Given the description of an element on the screen output the (x, y) to click on. 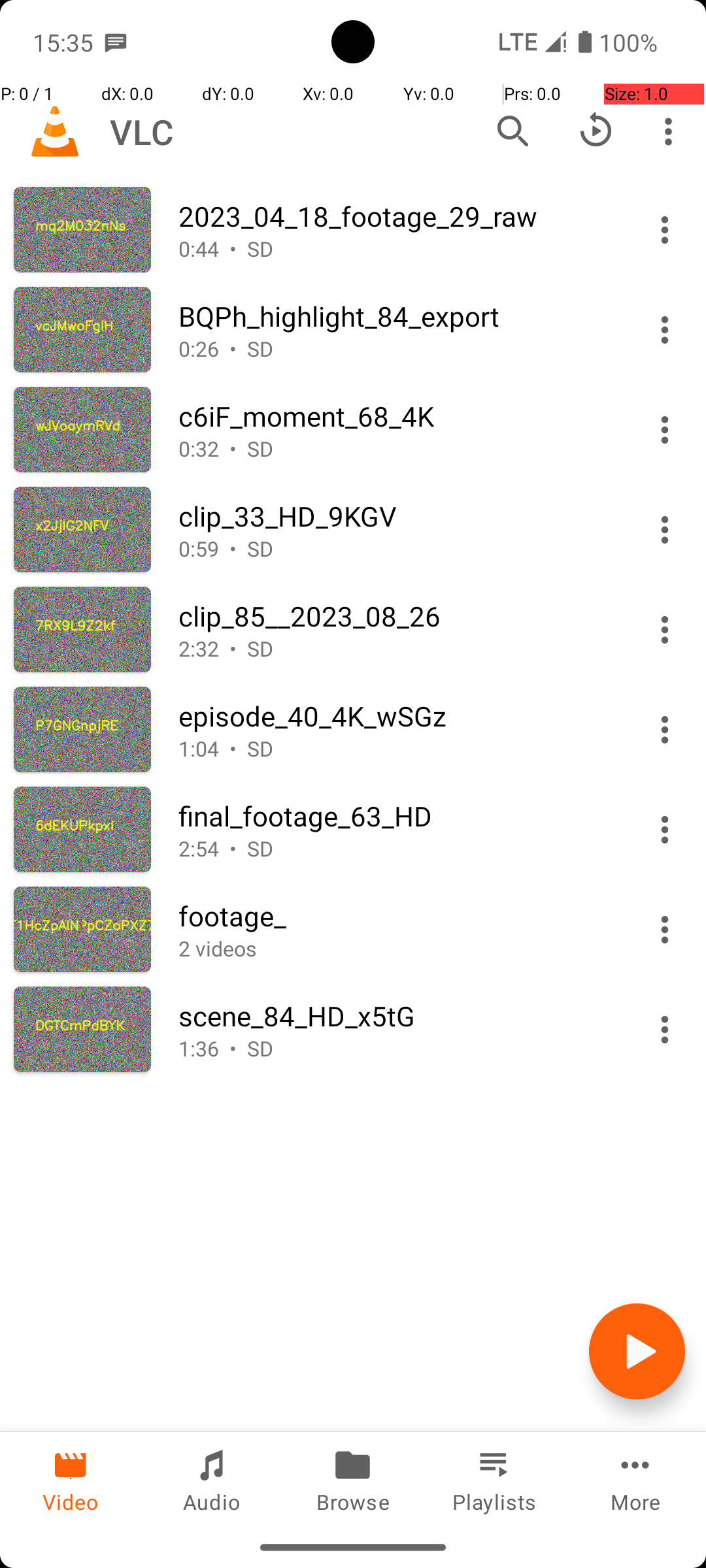
Resume playback Element type: android.widget.TextView (595, 131)
Play Element type: android.widget.ImageButton (637, 1351)
Video: 2023_04_18_footage_29_raw, Duration: 44 seconds Element type: android.view.ViewGroup (353, 229)
Video: BQPh_highlight_84_export, Duration: 26 seconds Element type: android.view.ViewGroup (353, 329)
Video: c6iF_moment_68_4K, Duration: 32 seconds Element type: android.view.ViewGroup (353, 429)
Video: clip_33_HD_9KGV, Duration: 59 seconds Element type: android.view.ViewGroup (353, 529)
Video: clip_85__2023_08_26, Duration: 2 minutes 32 seconds Element type: android.view.ViewGroup (353, 629)
Video: episode_40_4K_wSGz, Duration: 1 minutes 4 seconds Element type: android.view.ViewGroup (353, 729)
Video: final_footage_63_HD, Duration: 2 minutes 54 seconds Element type: android.view.ViewGroup (353, 829)
Video group: footage_, 2 videos Element type: android.view.ViewGroup (353, 929)
Video: scene_84_HD_x5tG, Duration: 1 minutes 36 seconds Element type: android.view.ViewGroup (353, 1029)
2023_04_18_footage_29_raw Element type: android.widget.TextView (397, 215)
0:44  •  SD Element type: android.widget.TextView (397, 248)
More Actions Element type: android.widget.ImageView (664, 229)
BQPh_highlight_84_export Element type: android.widget.TextView (397, 315)
0:26  •  SD Element type: android.widget.TextView (397, 348)
c6iF_moment_68_4K Element type: android.widget.TextView (397, 415)
0:32  •  SD Element type: android.widget.TextView (397, 448)
clip_33_HD_9KGV Element type: android.widget.TextView (397, 515)
0:59  •  SD Element type: android.widget.TextView (397, 548)
clip_85__2023_08_26 Element type: android.widget.TextView (397, 615)
2:32  •  SD Element type: android.widget.TextView (397, 648)
episode_40_4K_wSGz Element type: android.widget.TextView (397, 715)
1:04  •  SD Element type: android.widget.TextView (397, 748)
final_footage_63_HD Element type: android.widget.TextView (397, 815)
2:54  •  SD Element type: android.widget.TextView (397, 848)
footage_ Element type: android.widget.TextView (397, 915)
2 videos Element type: android.widget.TextView (397, 948)
scene_84_HD_x5tG Element type: android.widget.TextView (397, 1015)
1:36  •  SD Element type: android.widget.TextView (397, 1048)
